Given the description of an element on the screen output the (x, y) to click on. 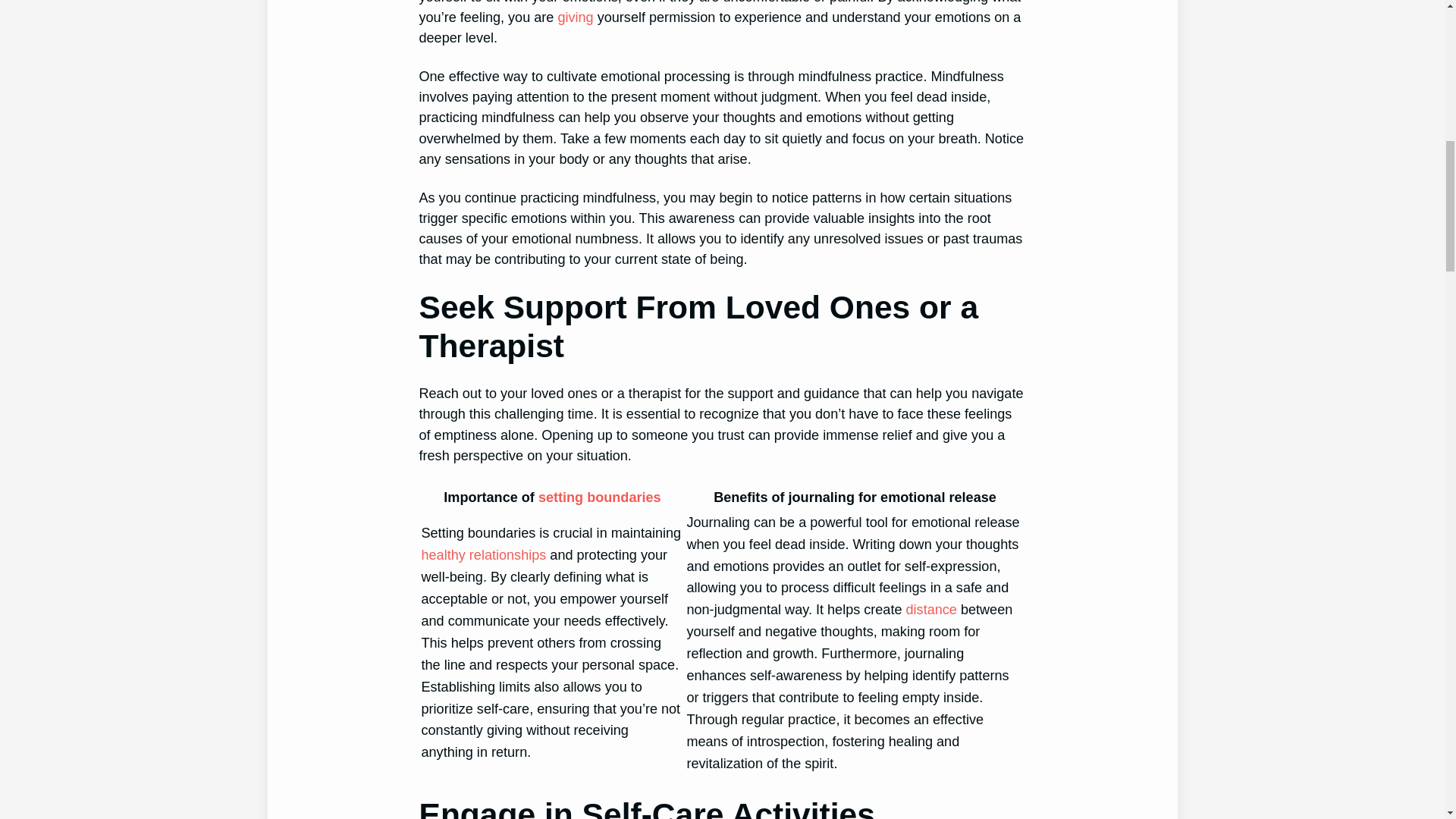
healthy relationships (484, 554)
setting boundaries (599, 497)
distance (930, 609)
distance (930, 609)
giving (574, 17)
giving (574, 17)
setting boundaries (599, 497)
healthy relationships (484, 554)
